Given the description of an element on the screen output the (x, y) to click on. 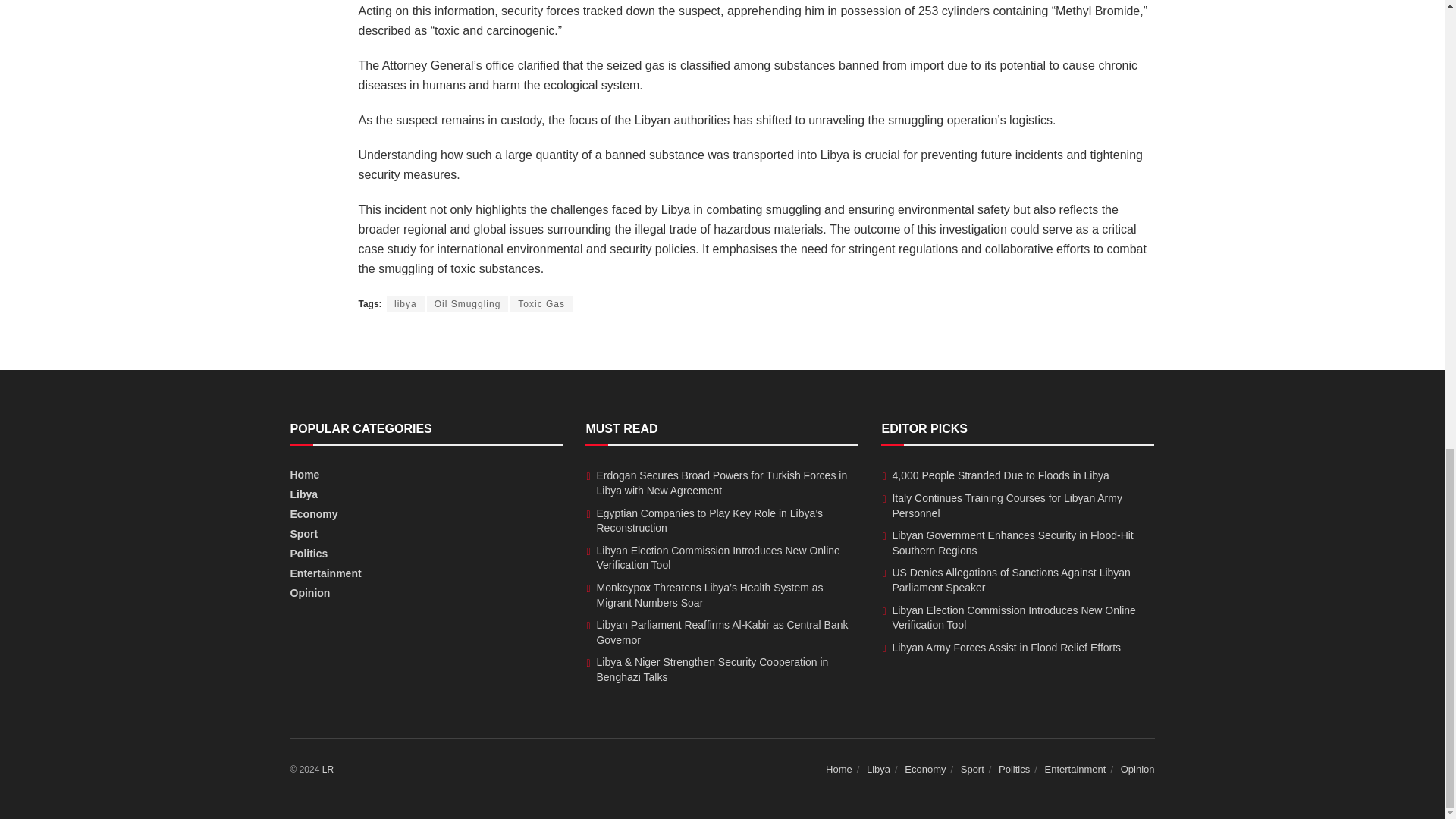
libya (406, 303)
Libya Review (327, 769)
Toxic Gas (541, 303)
Oil Smuggling (467, 303)
